Given the description of an element on the screen output the (x, y) to click on. 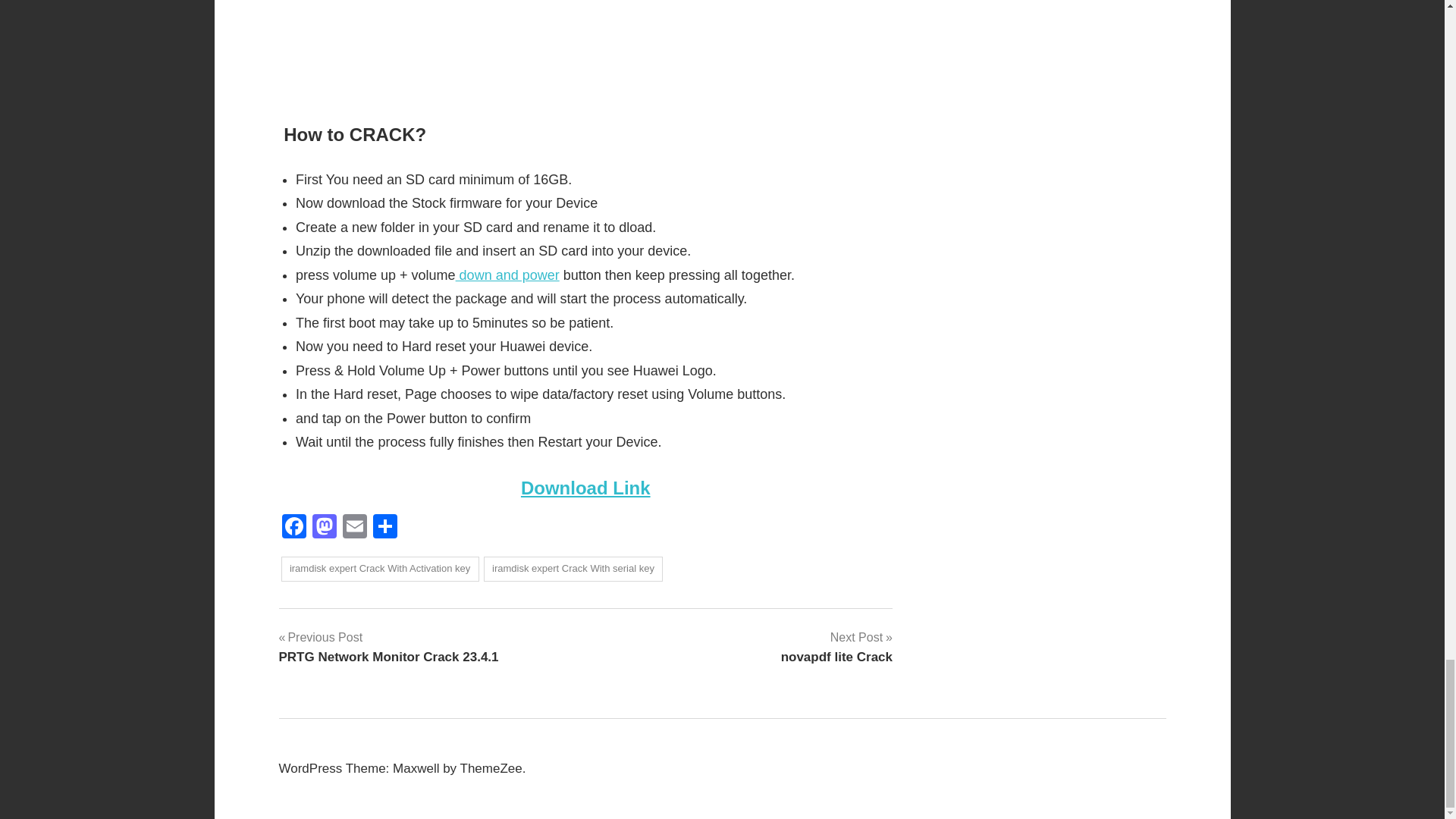
Mastodon (323, 528)
iramdisk expert Crack With serial key (389, 646)
Email (573, 568)
iramdisk expert Crack With Activation key (354, 528)
Facebook (380, 568)
Download Link (293, 528)
Facebook (585, 487)
down and power (293, 528)
Email (507, 274)
